Given the description of an element on the screen output the (x, y) to click on. 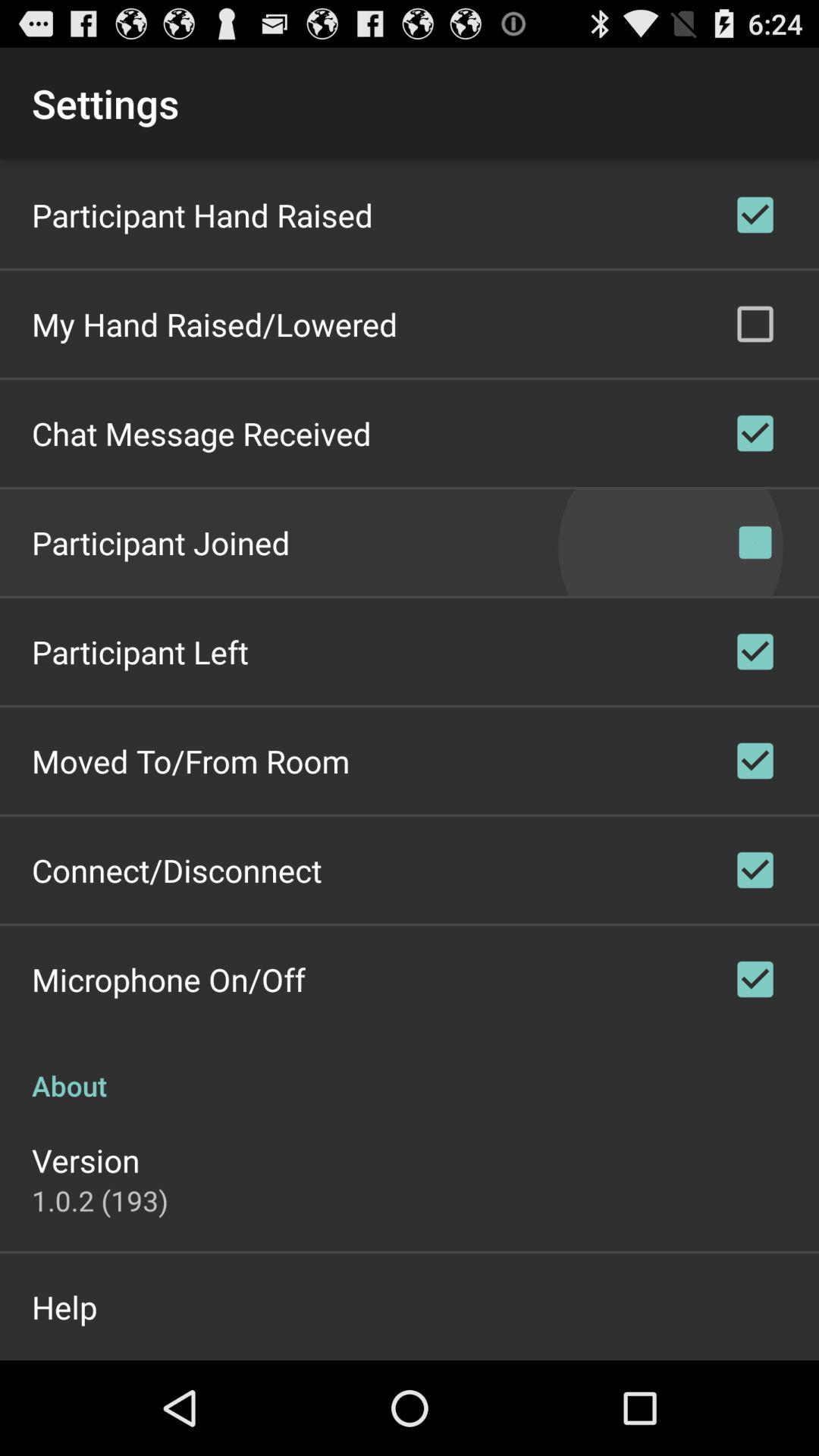
jump to 1 0 2 app (99, 1200)
